Given the description of an element on the screen output the (x, y) to click on. 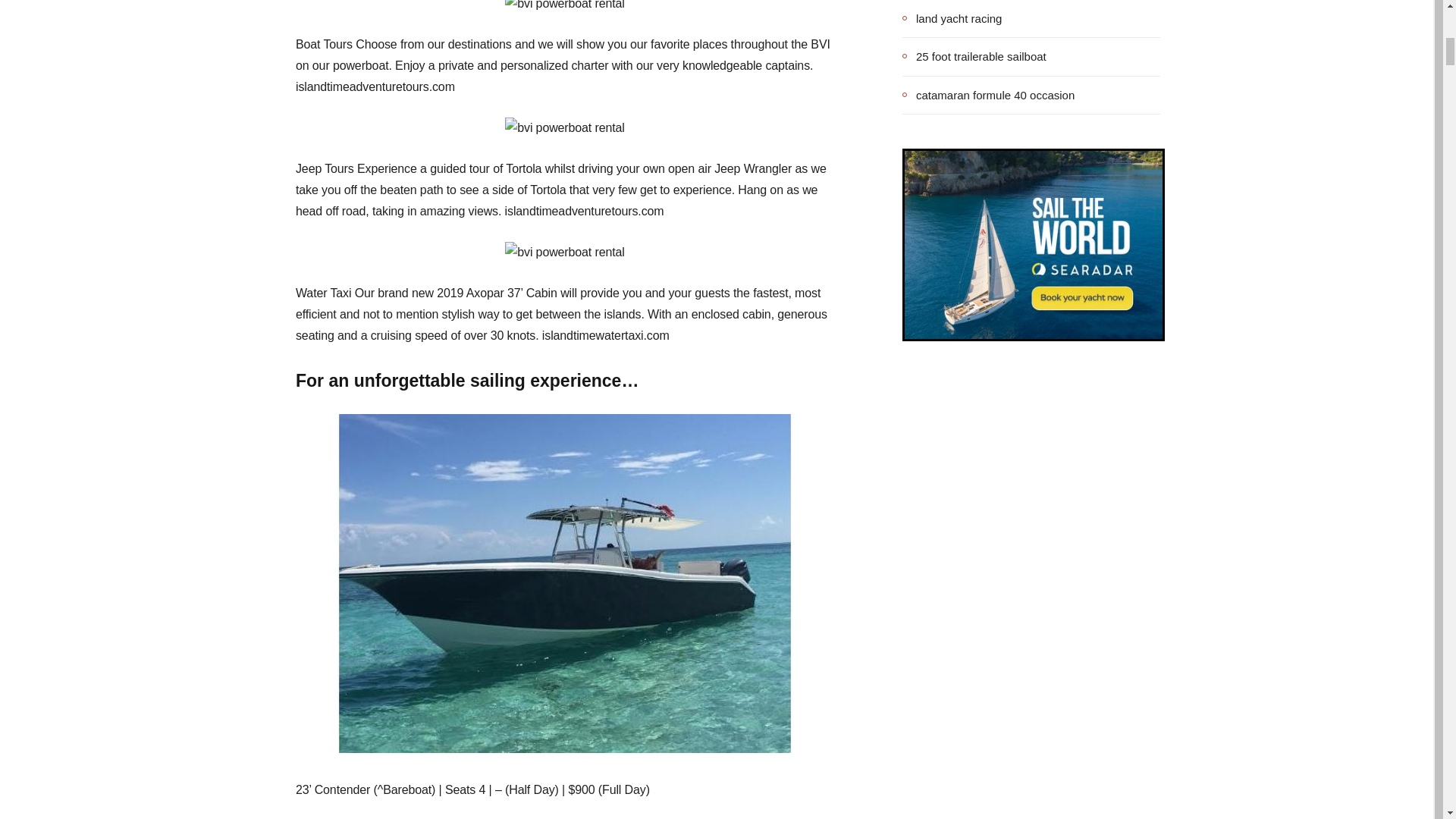
25 foot trailerable sailboat (974, 56)
land yacht racing (951, 18)
catamaran formule 40 occasion (988, 94)
